Given the description of an element on the screen output the (x, y) to click on. 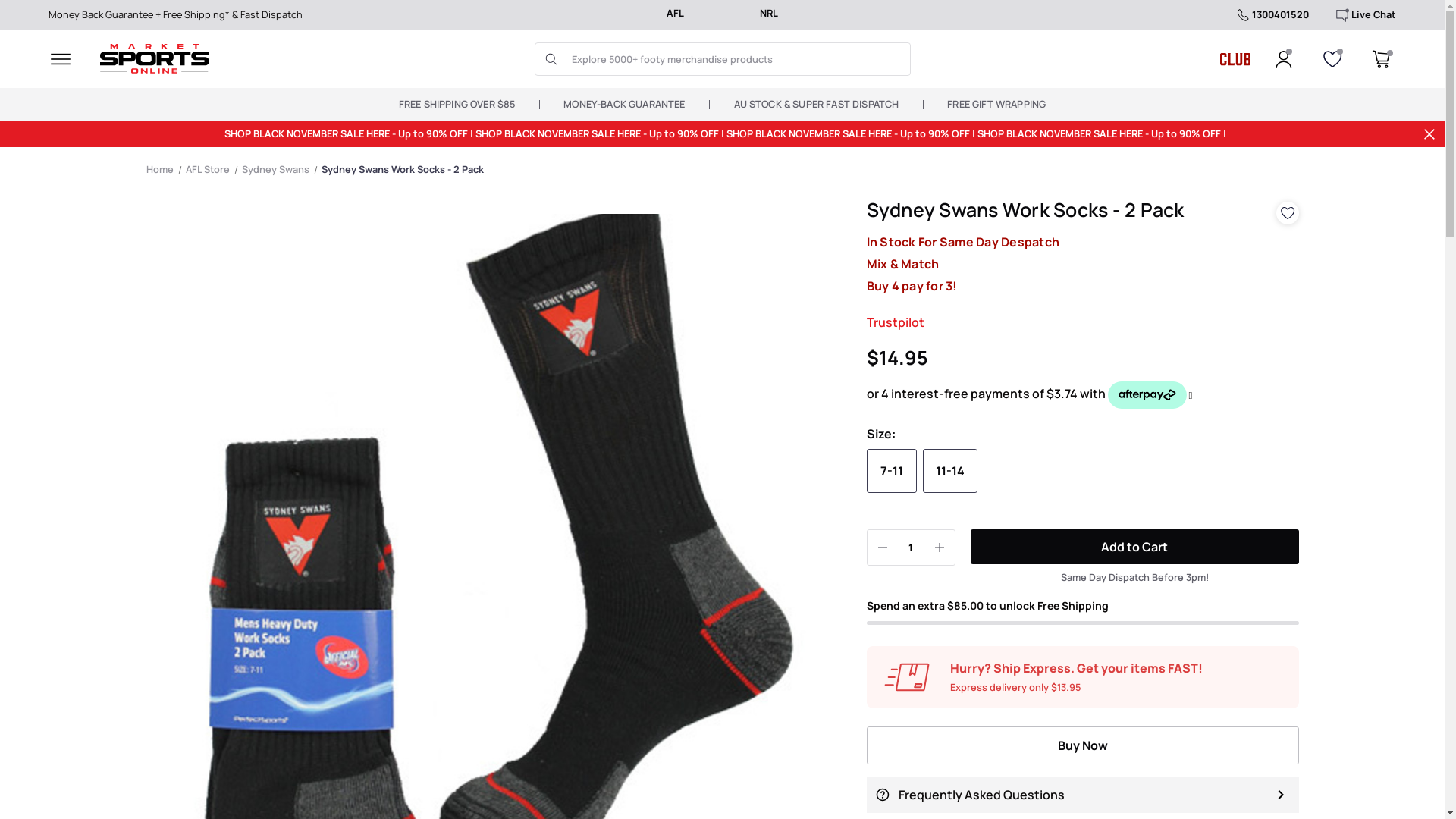
Increase Quantity of Sydney Swans Work Socks - 2 Pack Element type: text (938, 547)
0 Element type: text (1380, 58)
NRL Element type: text (768, 15)
Home Element type: text (158, 168)
Sydney Swans Work Socks - 2 Pack Element type: text (402, 168)
AFL Element type: text (675, 15)
Trustpilot Element type: text (894, 321)
1300401520 Element type: text (1270, 15)
Live Chat Element type: text (1364, 15)
Buy Now Element type: text (1082, 745)
Add to Cart Element type: text (1134, 546)
Sydney Swans Element type: text (274, 168)
Decrease Quantity of Sydney Swans Work Socks - 2 Pack Element type: text (882, 547)
X Element type: text (1429, 134)
AFL Store Element type: text (207, 168)
